Given the description of an element on the screen output the (x, y) to click on. 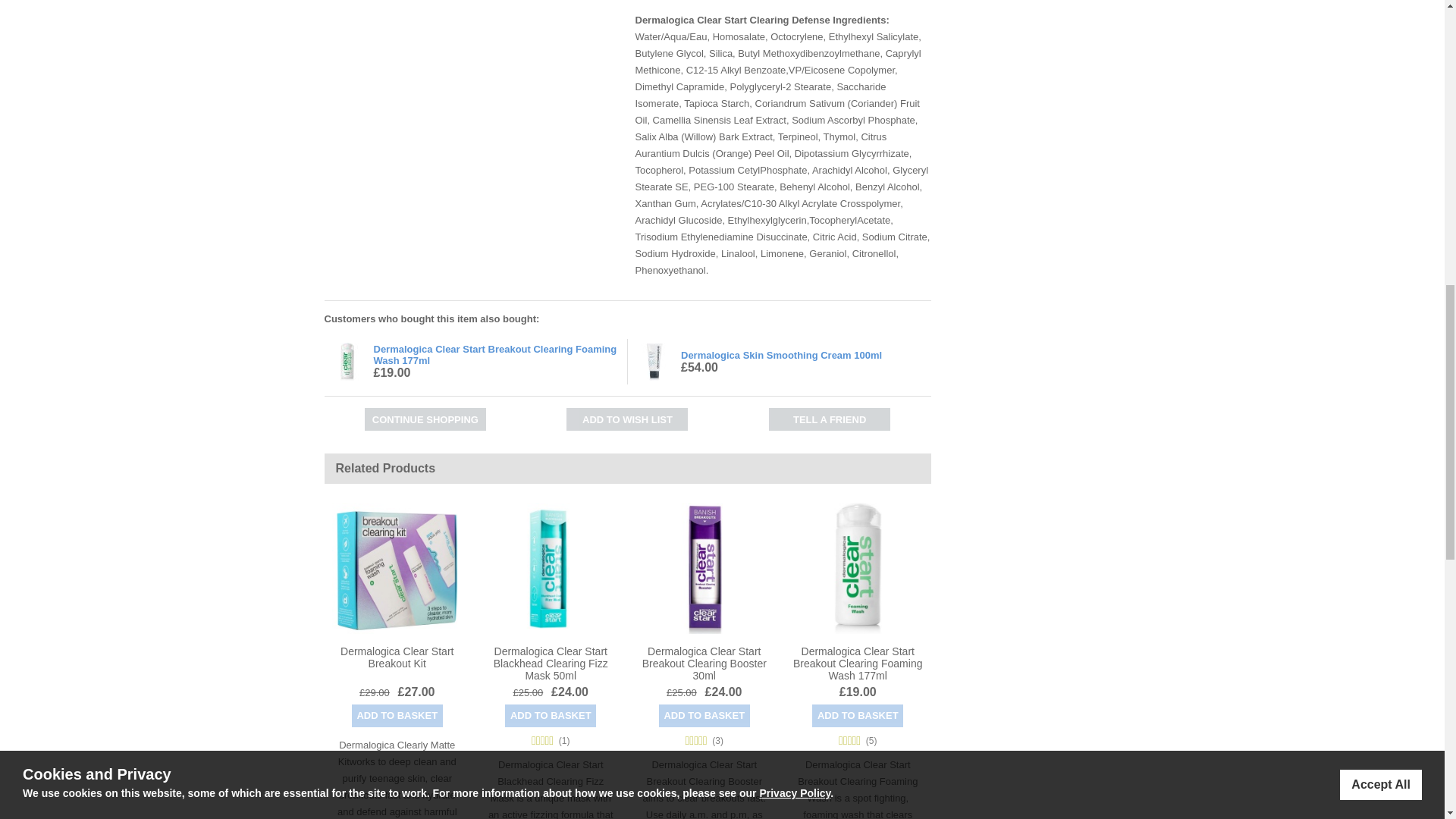
ADD TO BASKET (550, 714)
Dermalogica Clear Start Breakout Clearing Booster 30ml (704, 662)
TELL A FRIEND (828, 418)
ADD TO BASKET (857, 714)
ADD TO WISH LIST (626, 418)
Dermalogica Skin Smoothing Cream 100ml (781, 354)
CONTINUE SHOPPING (425, 418)
Dermalogica Clear Start Breakout Clearing Foaming Wash 177ml (857, 662)
Dermalogica Clear Start Breakout Clearing Foaming Wash 177ml (493, 354)
ADD TO BASKET (397, 714)
Dermalogica Clear Start Breakout Kit (396, 656)
ADD TO BASKET (704, 714)
Dermalogica Clear Start Blackhead Clearing Fizz Mask 50ml (550, 662)
